Given the description of an element on the screen output the (x, y) to click on. 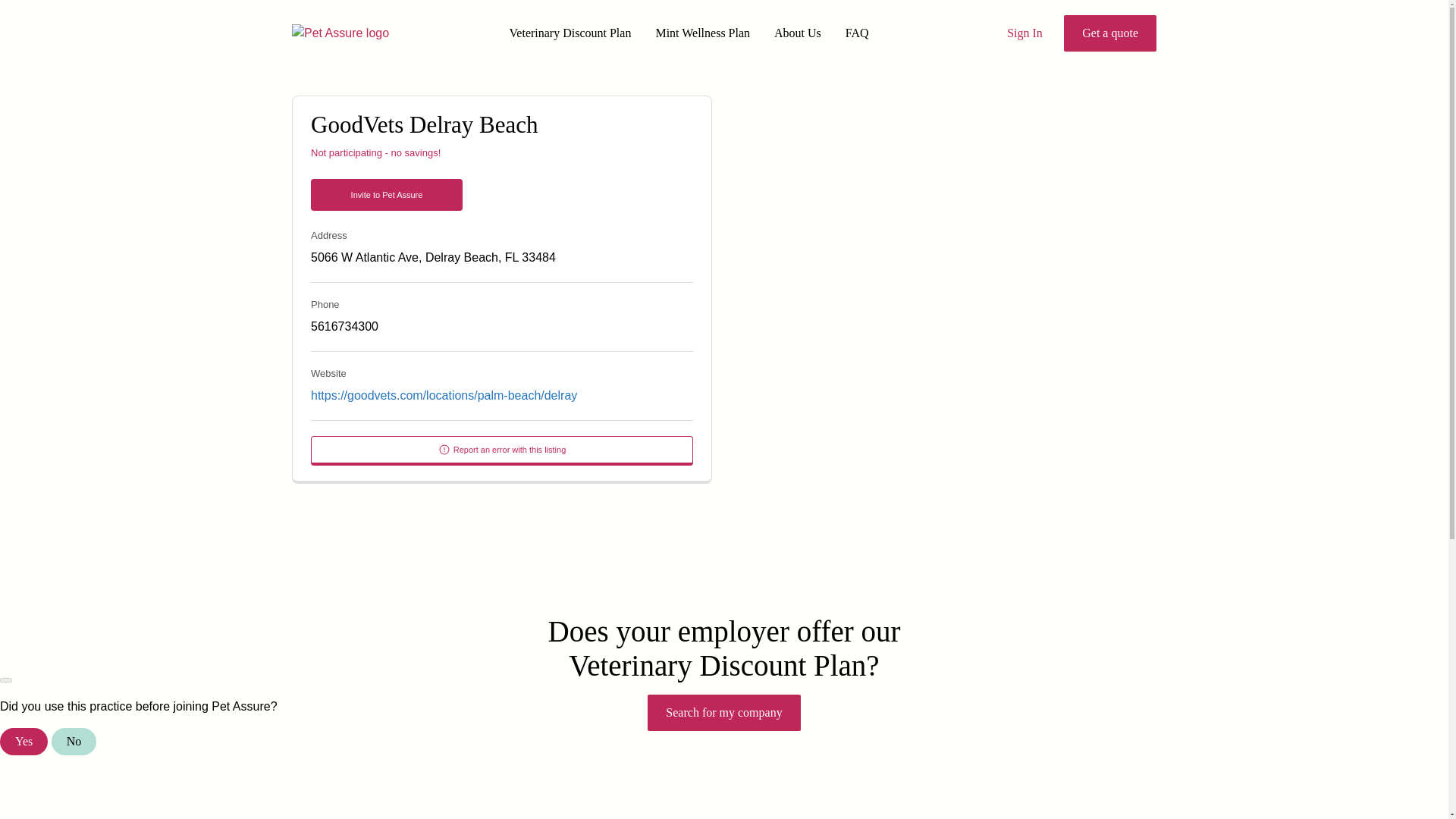
Search for my company (723, 712)
No (73, 741)
Sign In (1024, 33)
Report an error with this listing (502, 450)
Mint Wellness Plan (702, 33)
Get a quote (1110, 33)
Yes (24, 741)
Invite to Pet Assure (387, 194)
Veterinary Discount Plan (570, 33)
FAQ (857, 33)
